Given the description of an element on the screen output the (x, y) to click on. 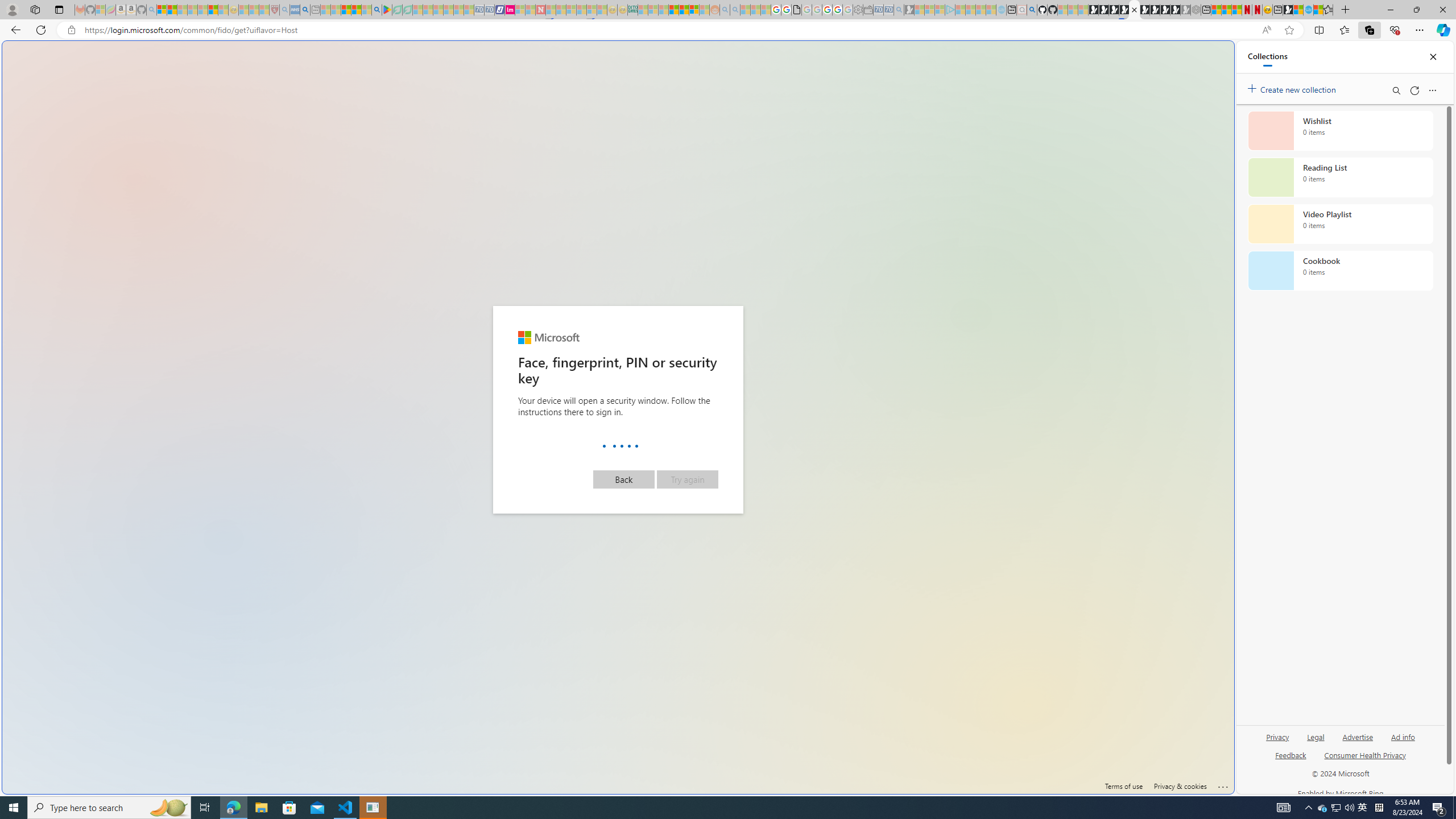
Microsoft (548, 337)
Click here for troubleshooting information (1223, 784)
google_privacy_policy_zh-CN.pdf (796, 9)
Wallet - Sleeping (867, 9)
Bing Real Estate - Home sales and rental listings - Sleeping (898, 9)
